Given the description of an element on the screen output the (x, y) to click on. 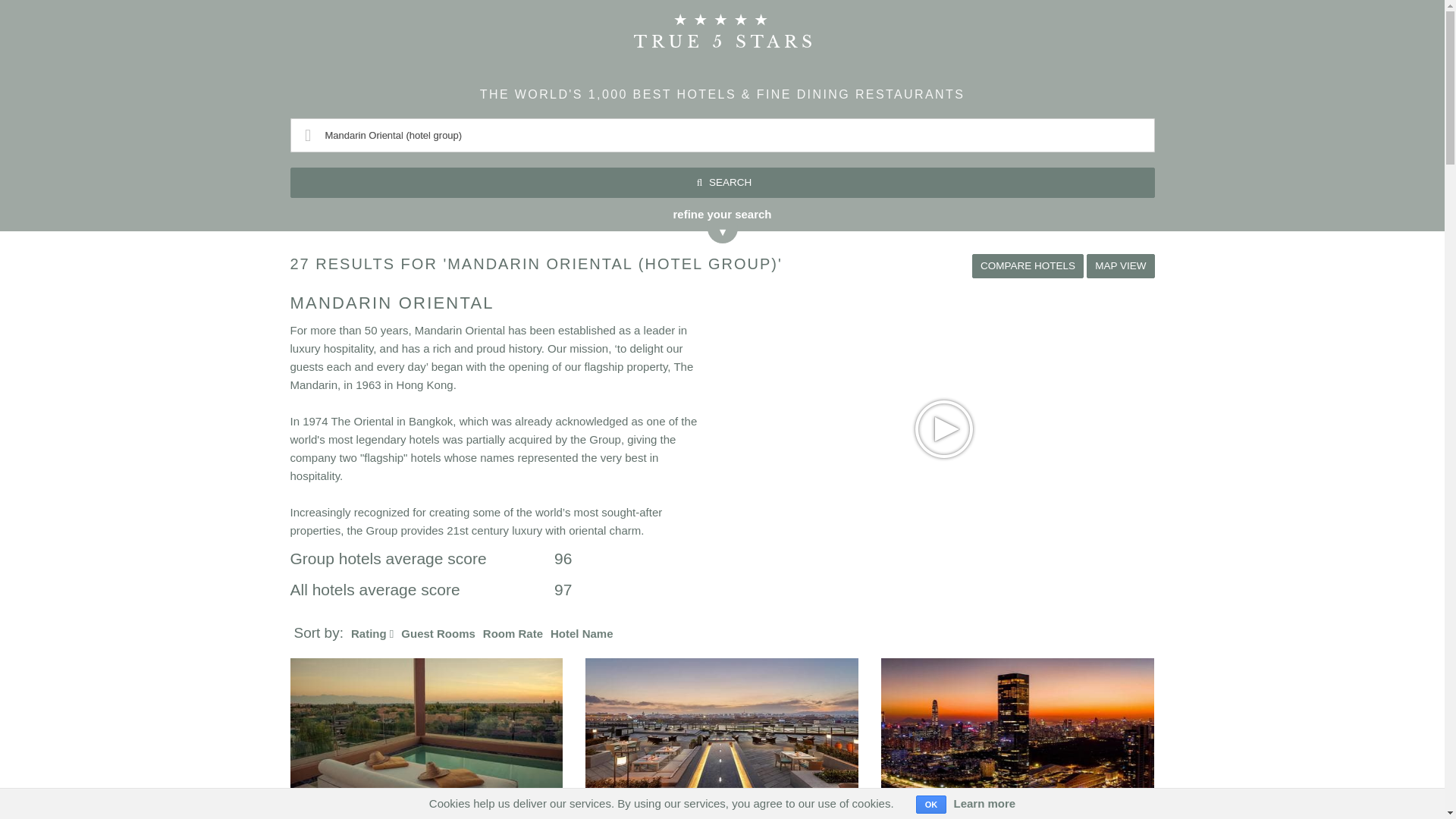
Mandarin Oriental, Marrakech (425, 726)
Hotel Name (581, 633)
refine your search (721, 217)
Mandarin Oriental, Shenzhen (1017, 726)
Rating (368, 633)
SEARCH (721, 182)
Room Rate (513, 633)
Mandarin Oriental Wangfujing (722, 726)
Guest Rooms (438, 633)
MAP VIEW (1120, 265)
Average score over hotels of this group (421, 562)
Search for Hotels (721, 182)
COMPARE HOTELS (1027, 265)
Destination (721, 134)
Average score over all hotels (421, 593)
